Given the description of an element on the screen output the (x, y) to click on. 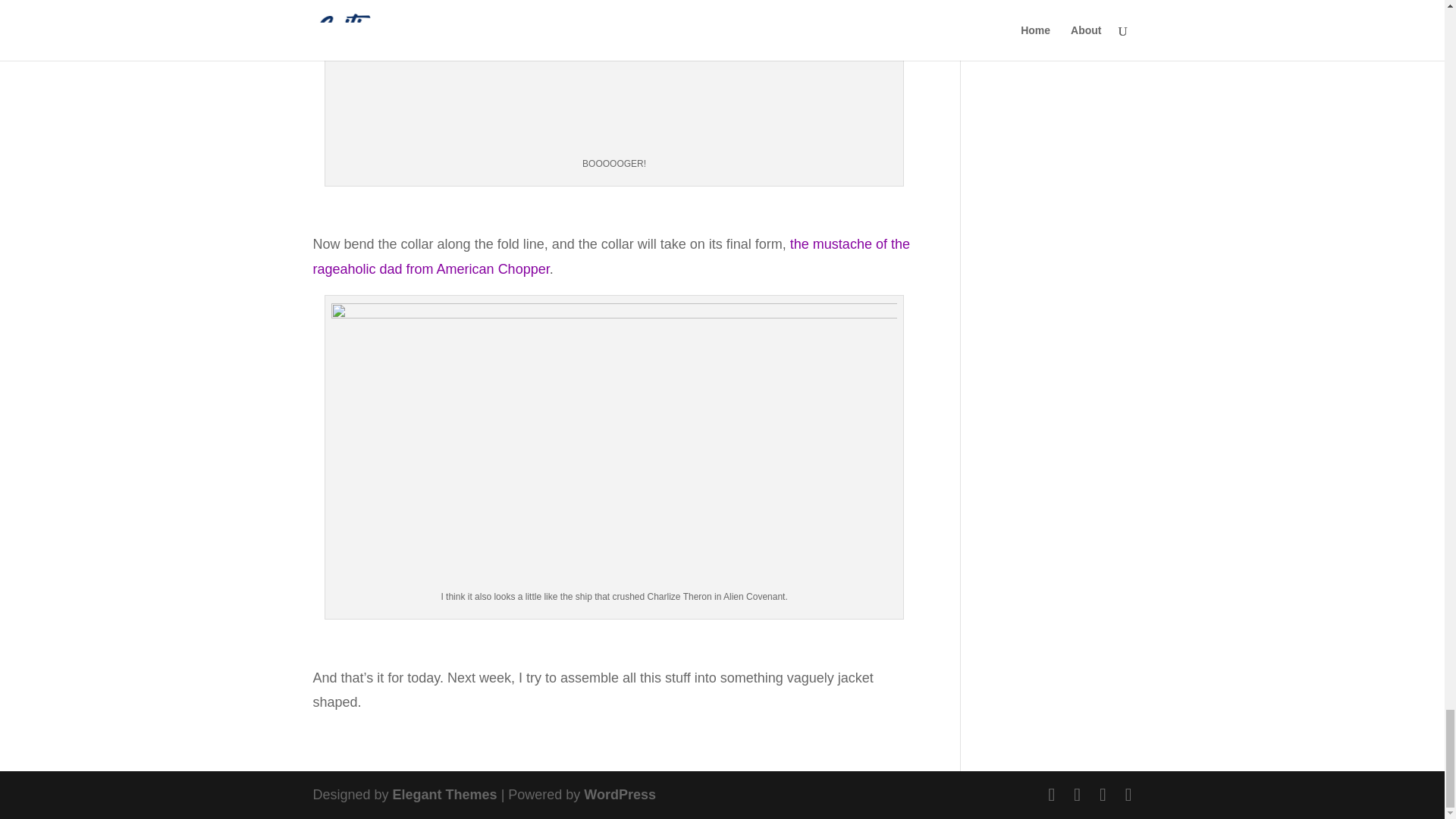
WordPress (619, 794)
Elegant Themes (445, 794)
Premium WordPress Themes (445, 794)
the mustache of the rageaholic dad from American Chopper (610, 256)
